Given the description of an element on the screen output the (x, y) to click on. 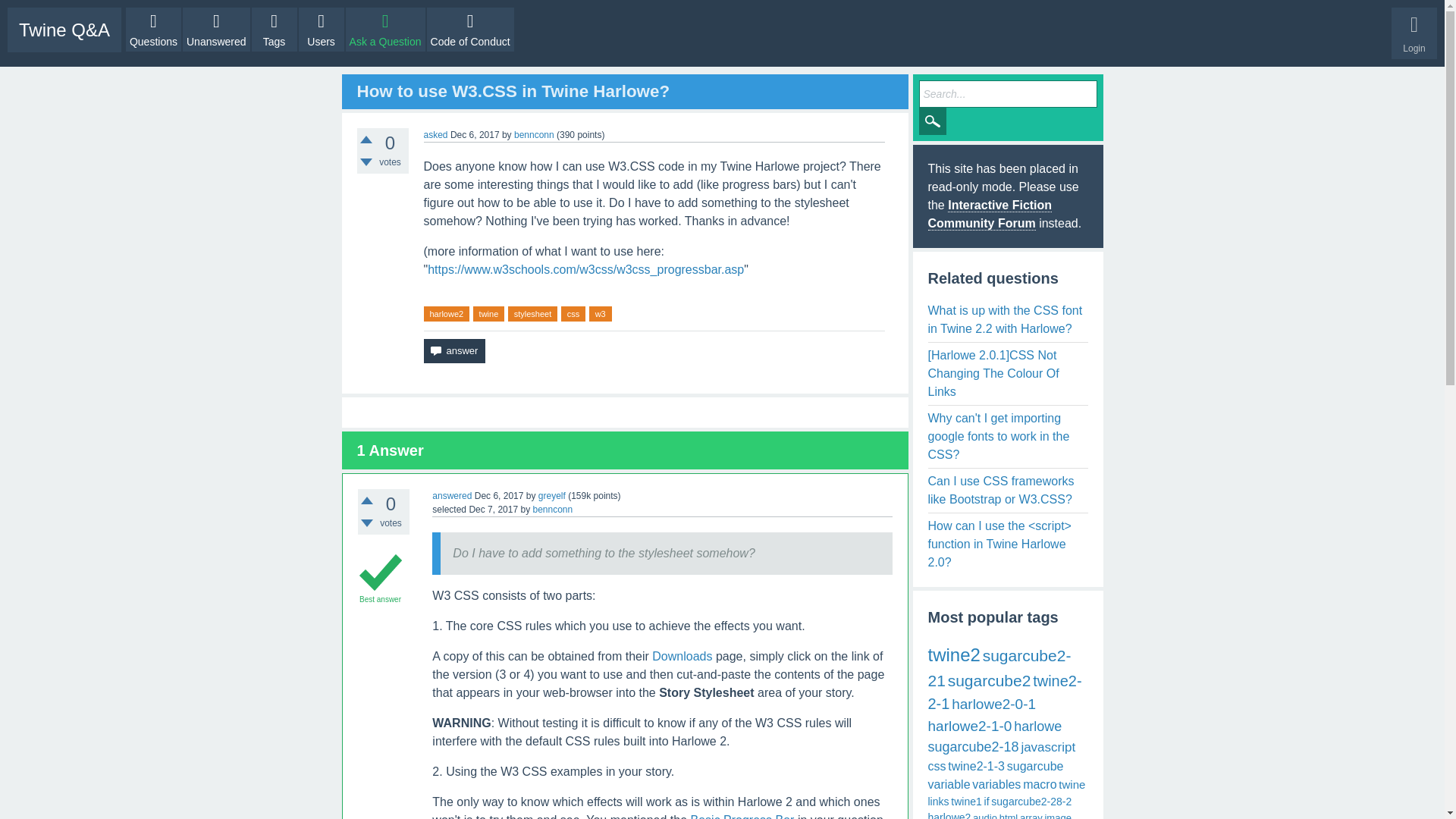
Basic Progress Bar (741, 816)
answer (453, 351)
css (573, 314)
Ask a Question (385, 29)
Click to vote down (365, 162)
greyelf (552, 495)
Downloads (681, 656)
asked (434, 134)
bennconn (533, 134)
Answer this question (453, 351)
twine (489, 314)
Click to vote up (365, 139)
Users (320, 29)
Click to vote down (366, 523)
bennconn (552, 509)
